Given the description of an element on the screen output the (x, y) to click on. 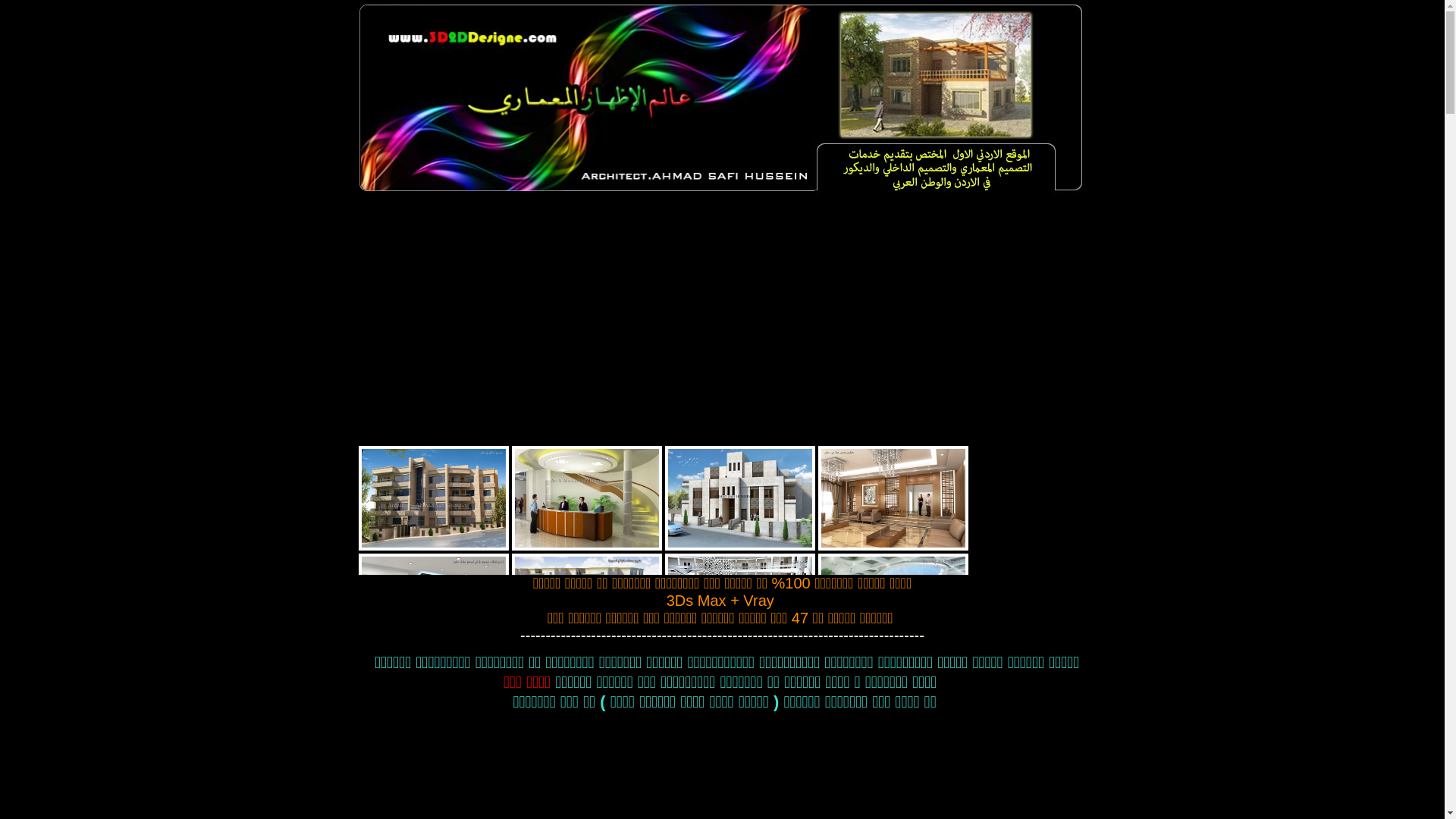
Advertisement Element type: hover (721, 331)
